Given the description of an element on the screen output the (x, y) to click on. 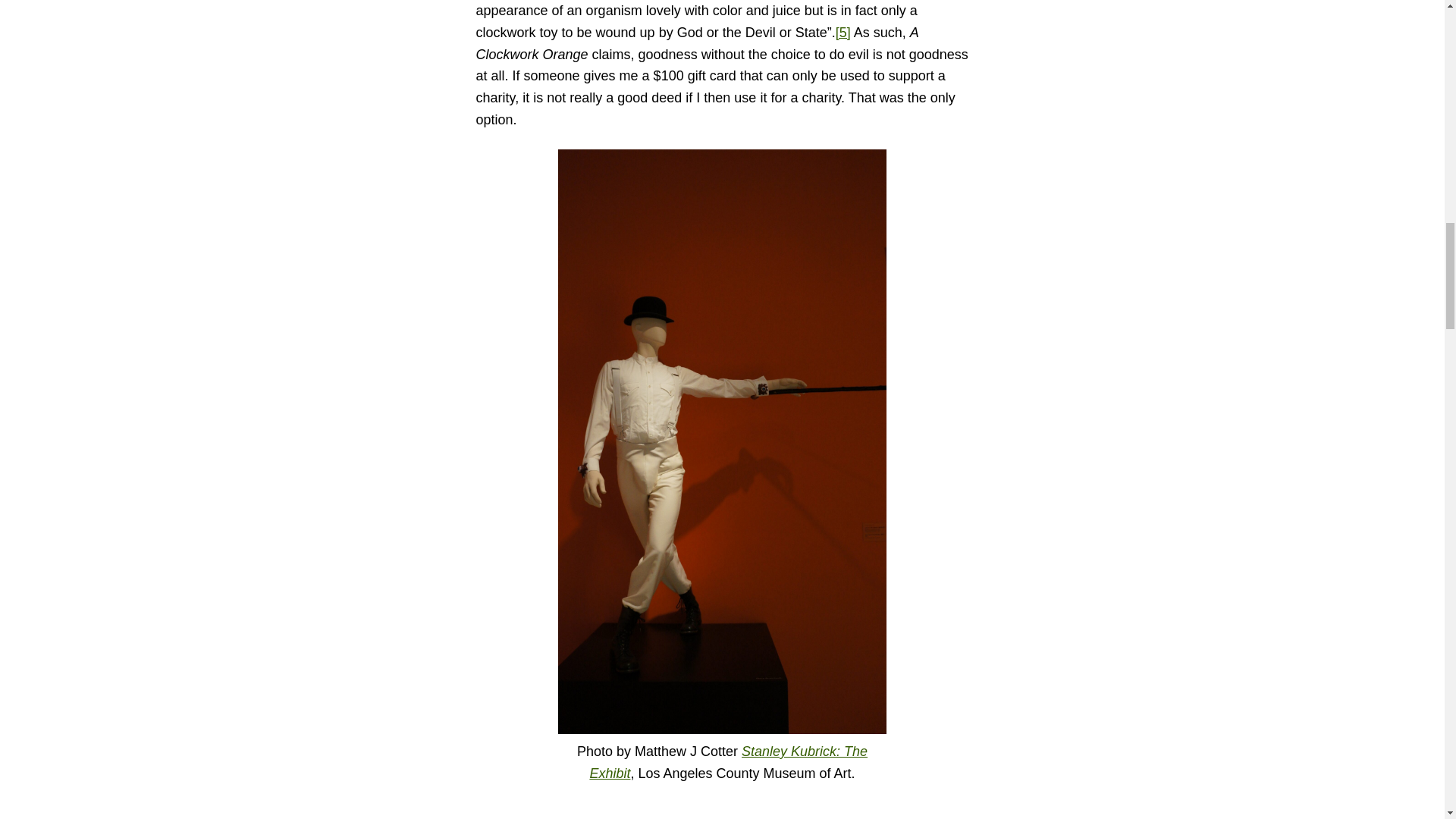
Stanley Kubrick: The Exhibit (728, 762)
